Given the description of an element on the screen output the (x, y) to click on. 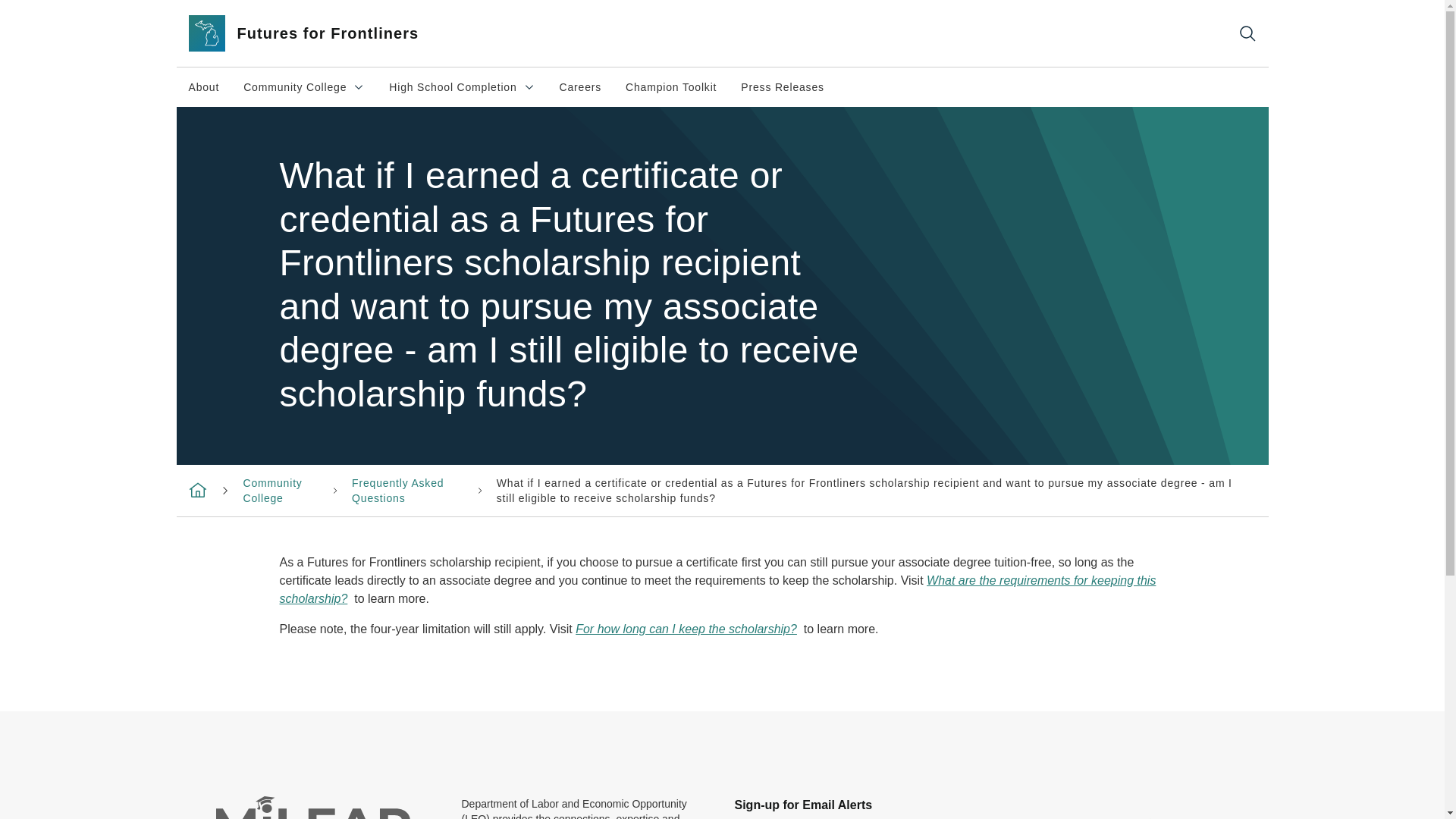
Community College (462, 87)
Futures for Frontliners (272, 490)
Frequently Asked Questions (321, 33)
About (398, 490)
Champion Toolkit (203, 87)
Press Releases (670, 87)
Careers (782, 87)
